Given the description of an element on the screen output the (x, y) to click on. 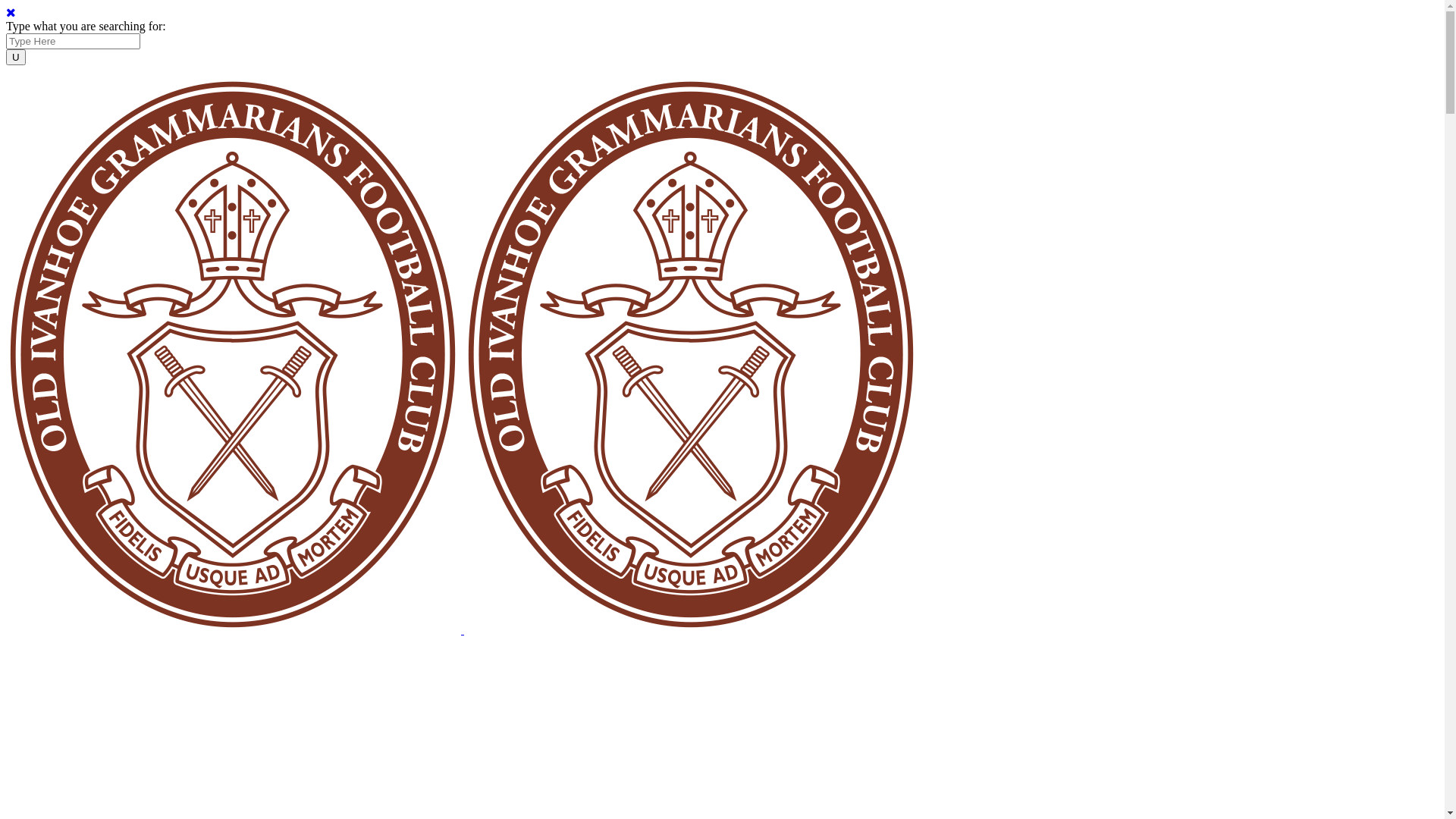
U Element type: text (15, 57)
